Given the description of an element on the screen output the (x, y) to click on. 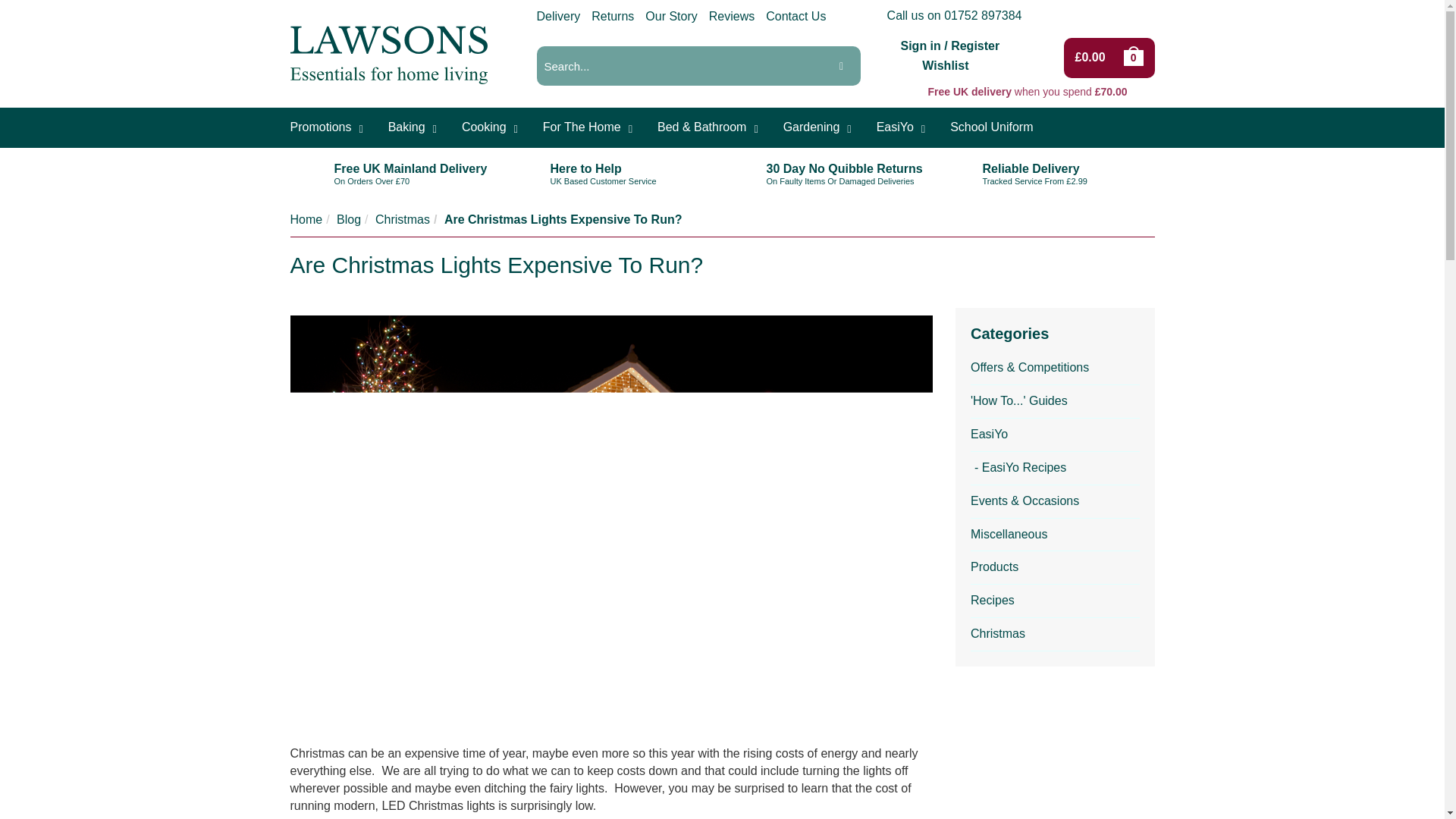
'How To...' Guides (1055, 401)
EasiYo Recipes (1055, 468)
Home (305, 219)
Bag (1135, 56)
EasiYo (1055, 435)
Read our Blog (1076, 15)
Miscellaneous (1055, 535)
Blog (348, 219)
'How To...' Guides (1055, 401)
Christmas (1055, 634)
